Given the description of an element on the screen output the (x, y) to click on. 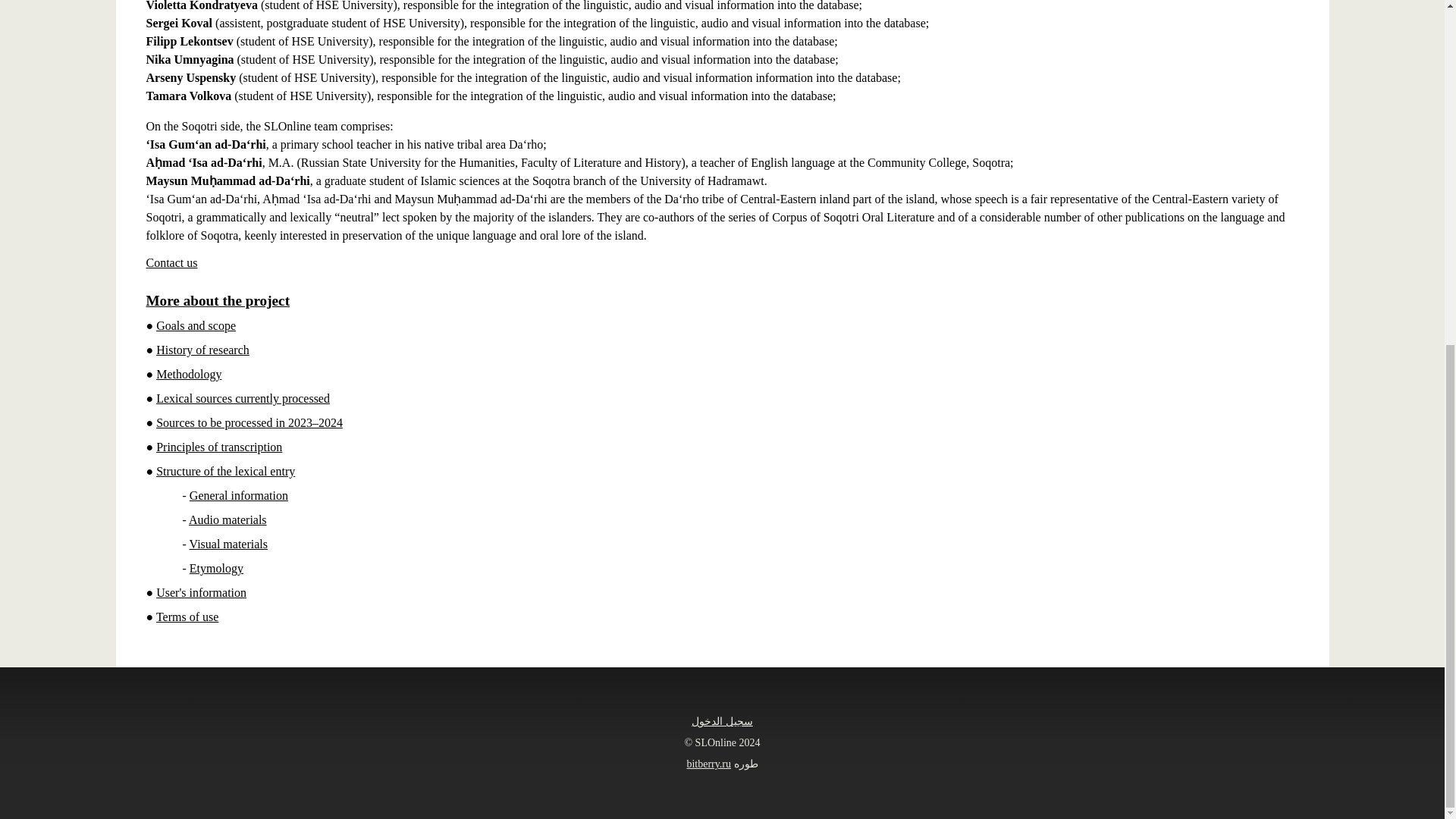
Goals and scope (195, 325)
Visual materials (228, 543)
Audio materials (227, 519)
Methodology (188, 373)
Terms of use (186, 616)
User's information (200, 592)
Etymology (216, 567)
Structure of the lexical entry (225, 471)
bitberry.ru (707, 763)
History of research (201, 349)
Principles of transcription (218, 446)
Contact us (170, 262)
More about the project (217, 300)
General information (238, 495)
Lexical sources currently processed (242, 398)
